Given the description of an element on the screen output the (x, y) to click on. 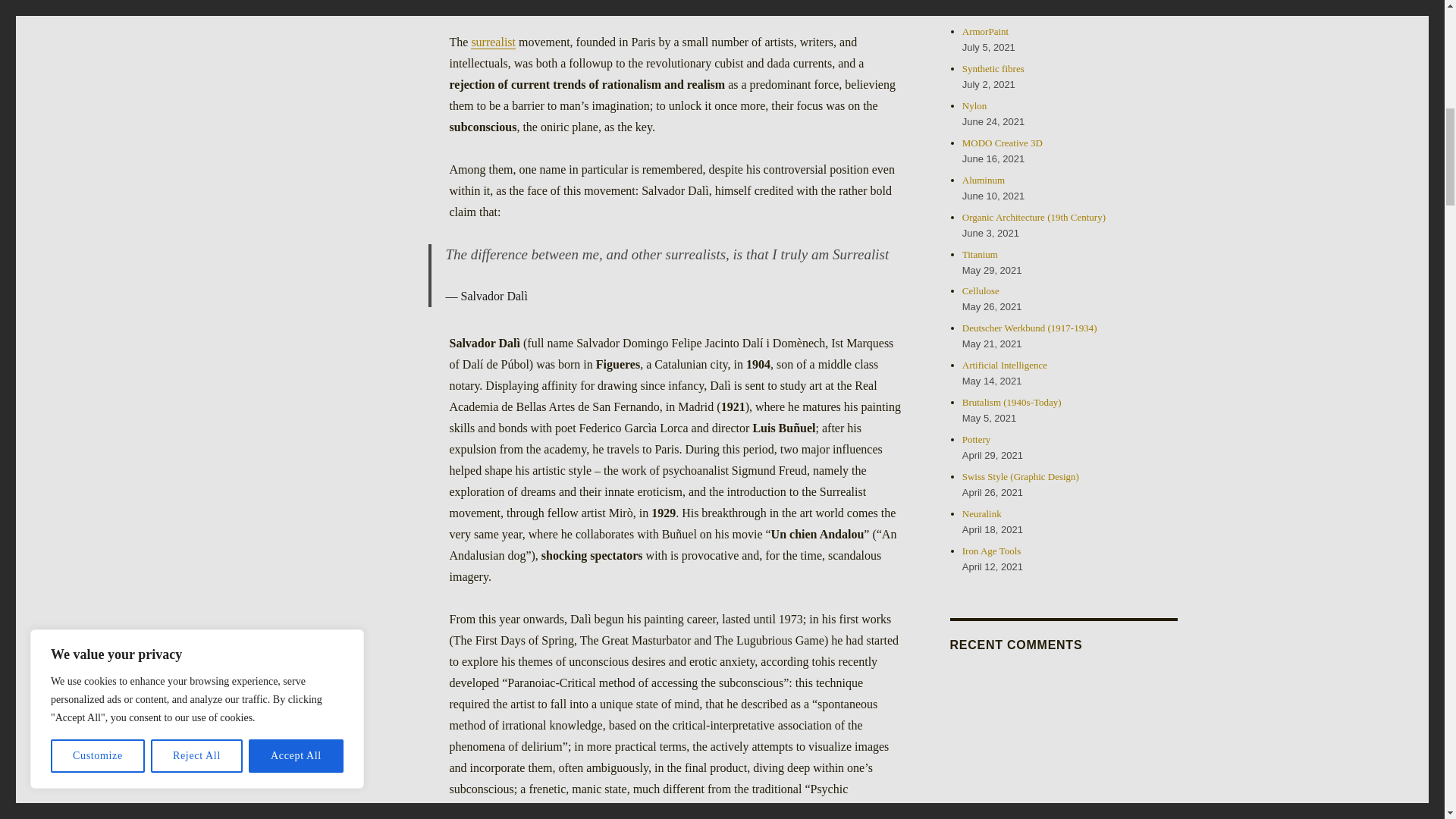
surrealist (492, 42)
